Given the description of an element on the screen output the (x, y) to click on. 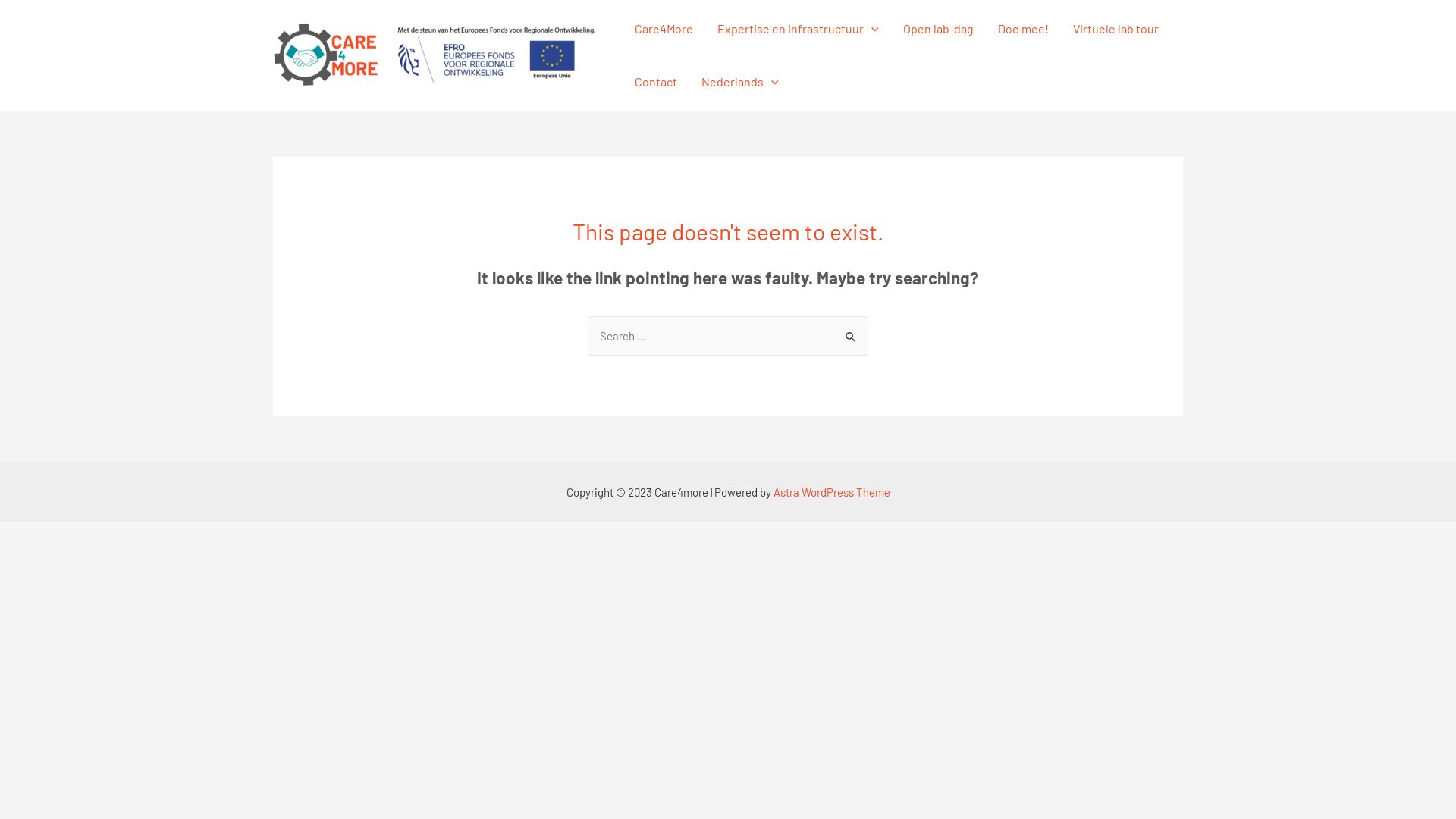
Doe mee! Element type: text (1022, 28)
Virtuele lab tour Element type: text (1115, 28)
Astra WordPress Theme Element type: text (831, 491)
Nederlands Element type: text (739, 81)
Care4More Element type: text (663, 28)
Expertise en infrastructuur Element type: text (798, 28)
Contact Element type: text (655, 81)
Search Element type: text (851, 331)
Open lab-dag Element type: text (938, 28)
